Given the description of an element on the screen output the (x, y) to click on. 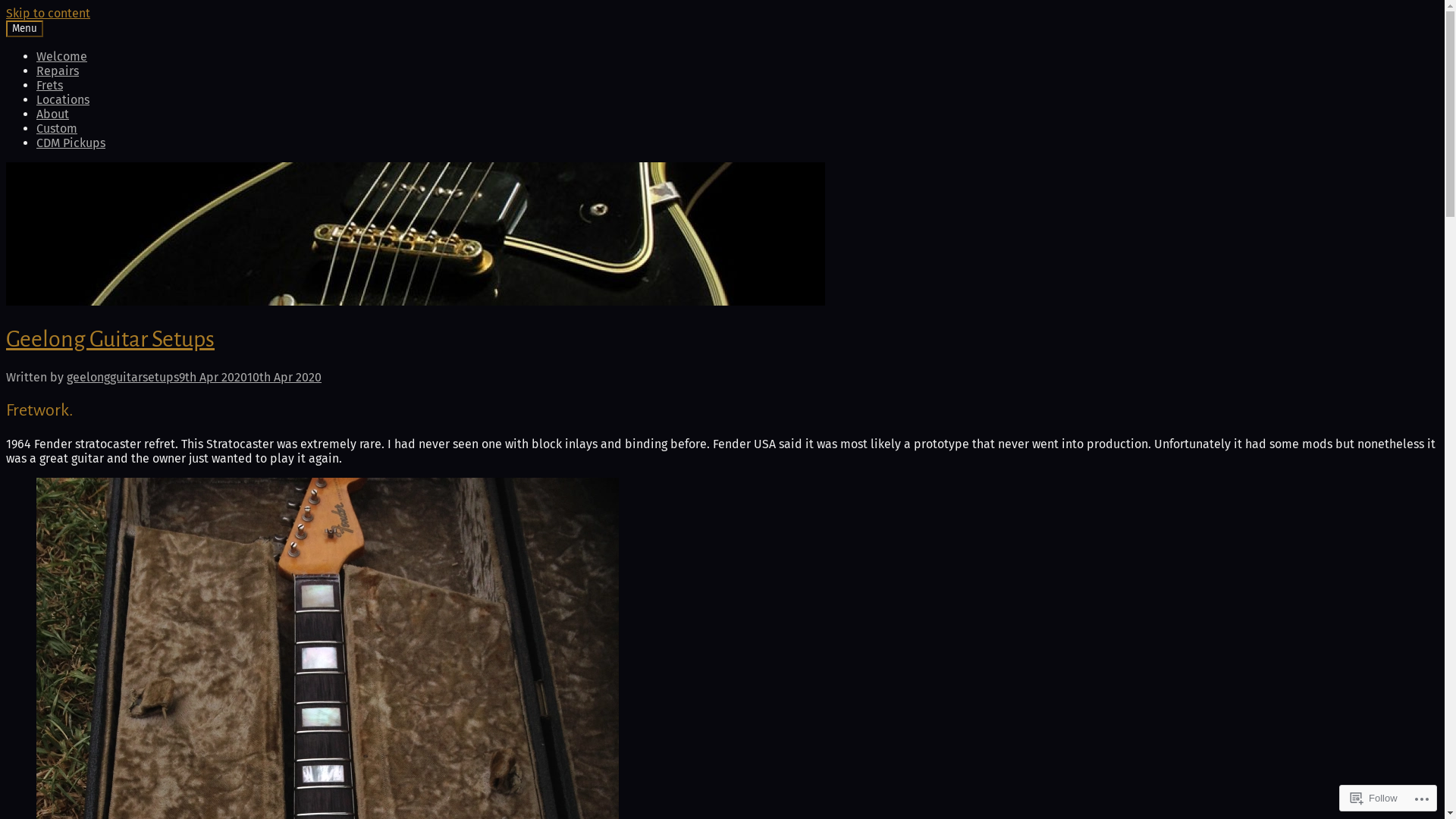
Menu Element type: text (24, 28)
9th Apr 202010th Apr 2020 Element type: text (249, 377)
Geelong Guitar Setups Element type: text (110, 338)
Follow Element type: text (1373, 797)
Frets Element type: text (49, 85)
geelongguitarsetups Element type: text (122, 377)
Custom Element type: text (56, 128)
Repairs Element type: text (57, 70)
CDM Pickups Element type: text (70, 142)
About Element type: text (52, 113)
Welcome Element type: text (61, 56)
Locations Element type: text (62, 99)
Skip to content Element type: text (48, 13)
